Given the description of an element on the screen output the (x, y) to click on. 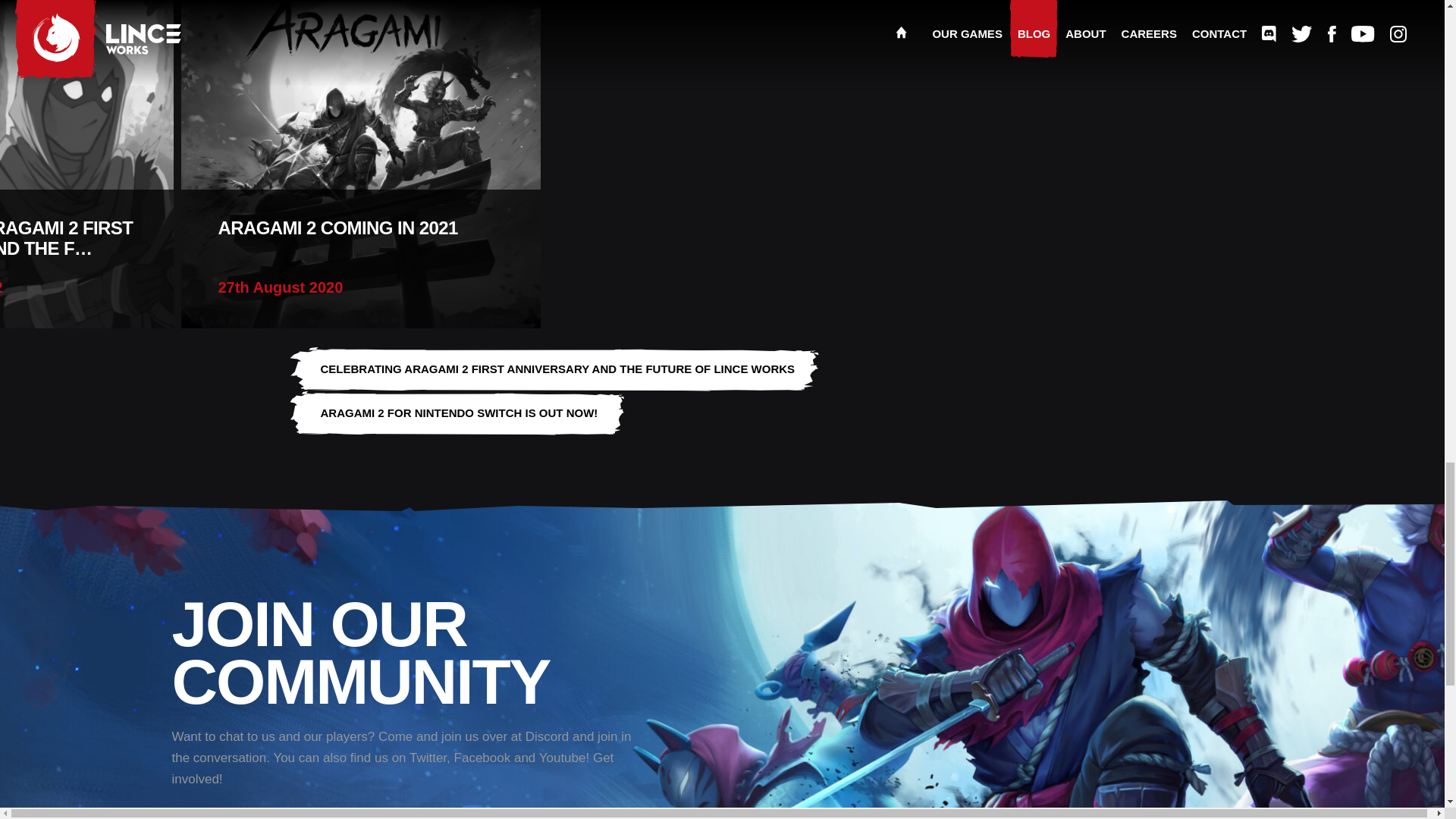
ARAGAMI 2 FOR NINTENDO SWITCH IS OUT NOW! (360, 163)
